Given the description of an element on the screen output the (x, y) to click on. 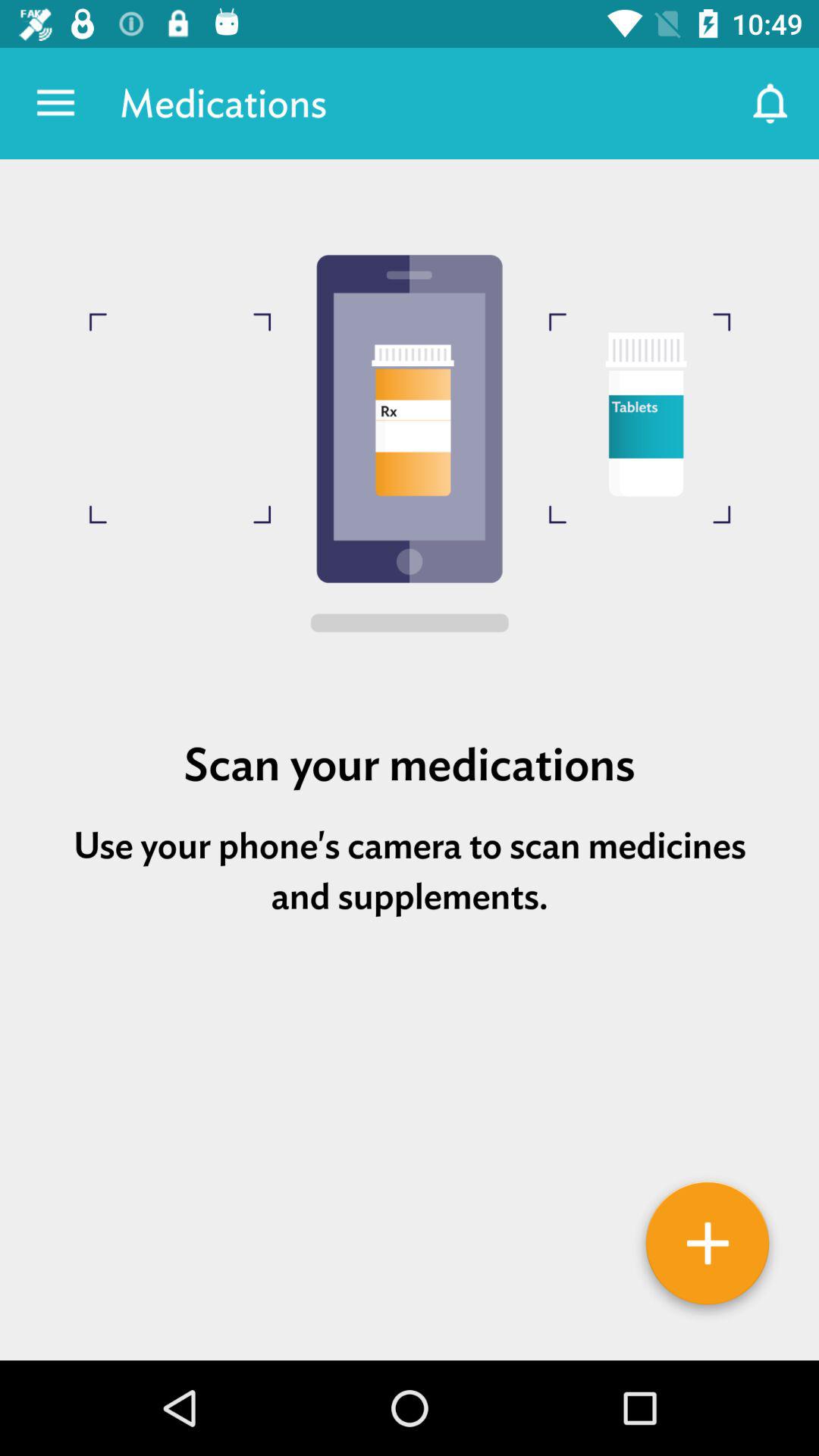
add medication (707, 1248)
